Given the description of an element on the screen output the (x, y) to click on. 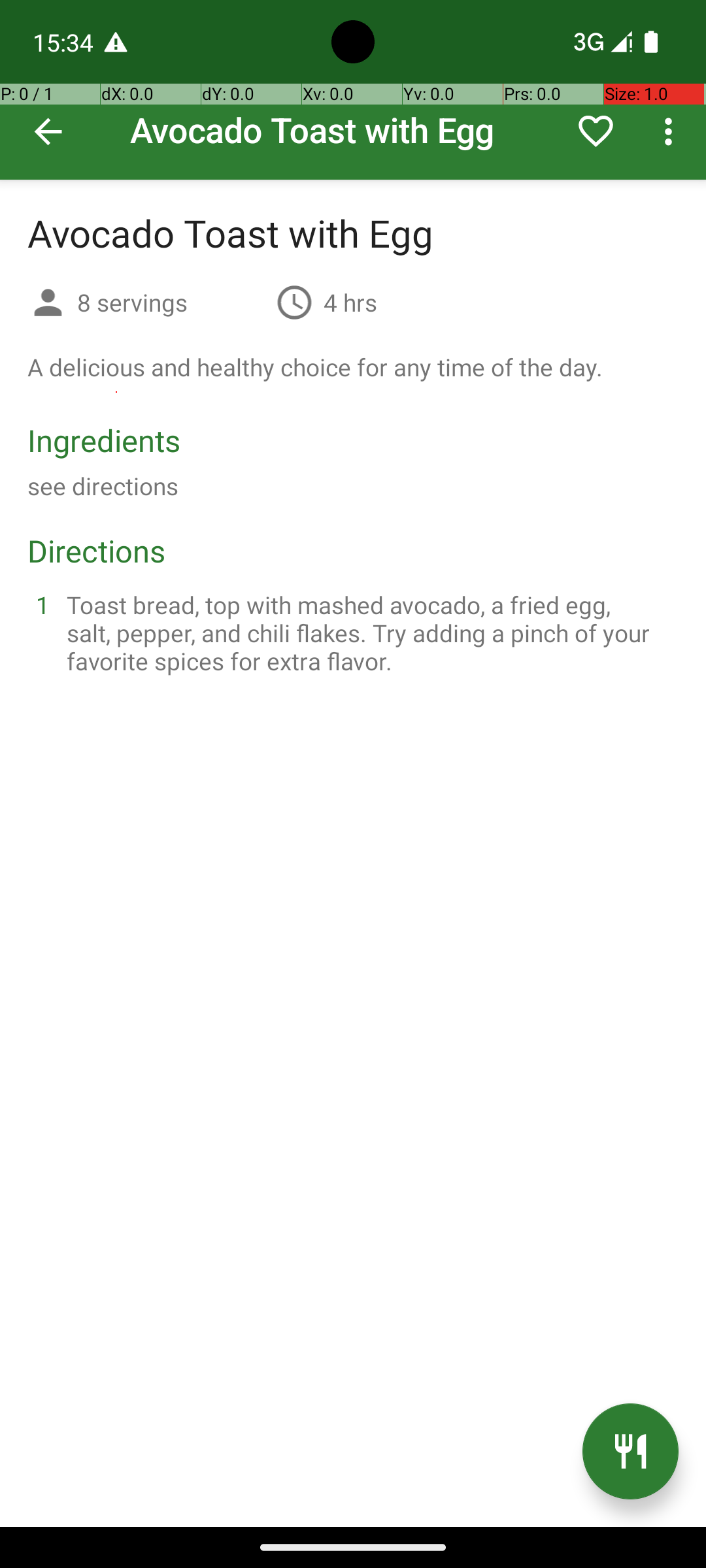
4 hrs Element type: android.widget.TextView (350, 301)
Toast bread, top with mashed avocado, a fried egg, salt, pepper, and chili flakes. Try adding a pinch of your favorite spices for extra flavor. Element type: android.widget.TextView (368, 632)
